Given the description of an element on the screen output the (x, y) to click on. 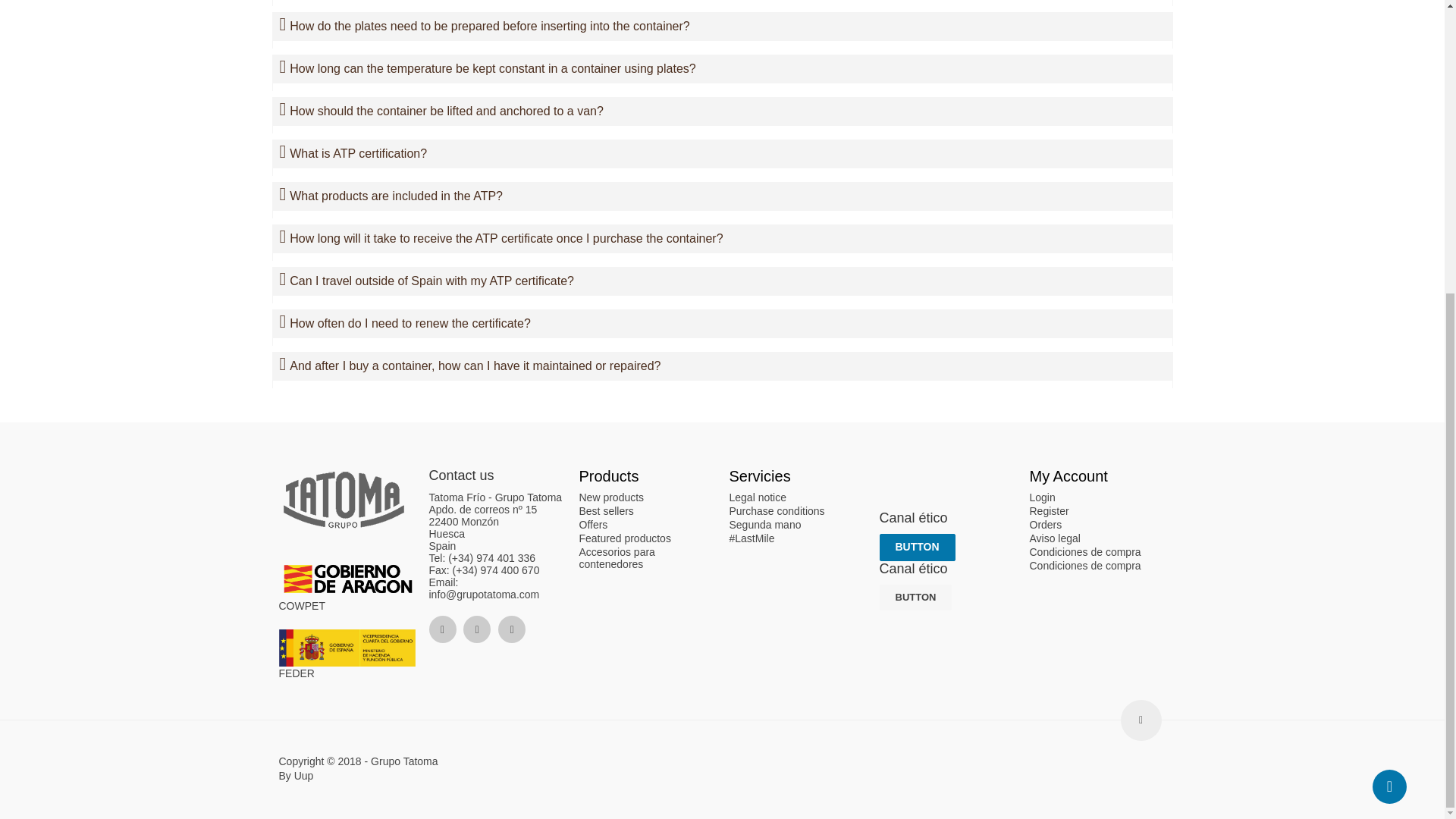
Twitter (476, 628)
YouTube (511, 628)
Facebook (443, 628)
